Given the description of an element on the screen output the (x, y) to click on. 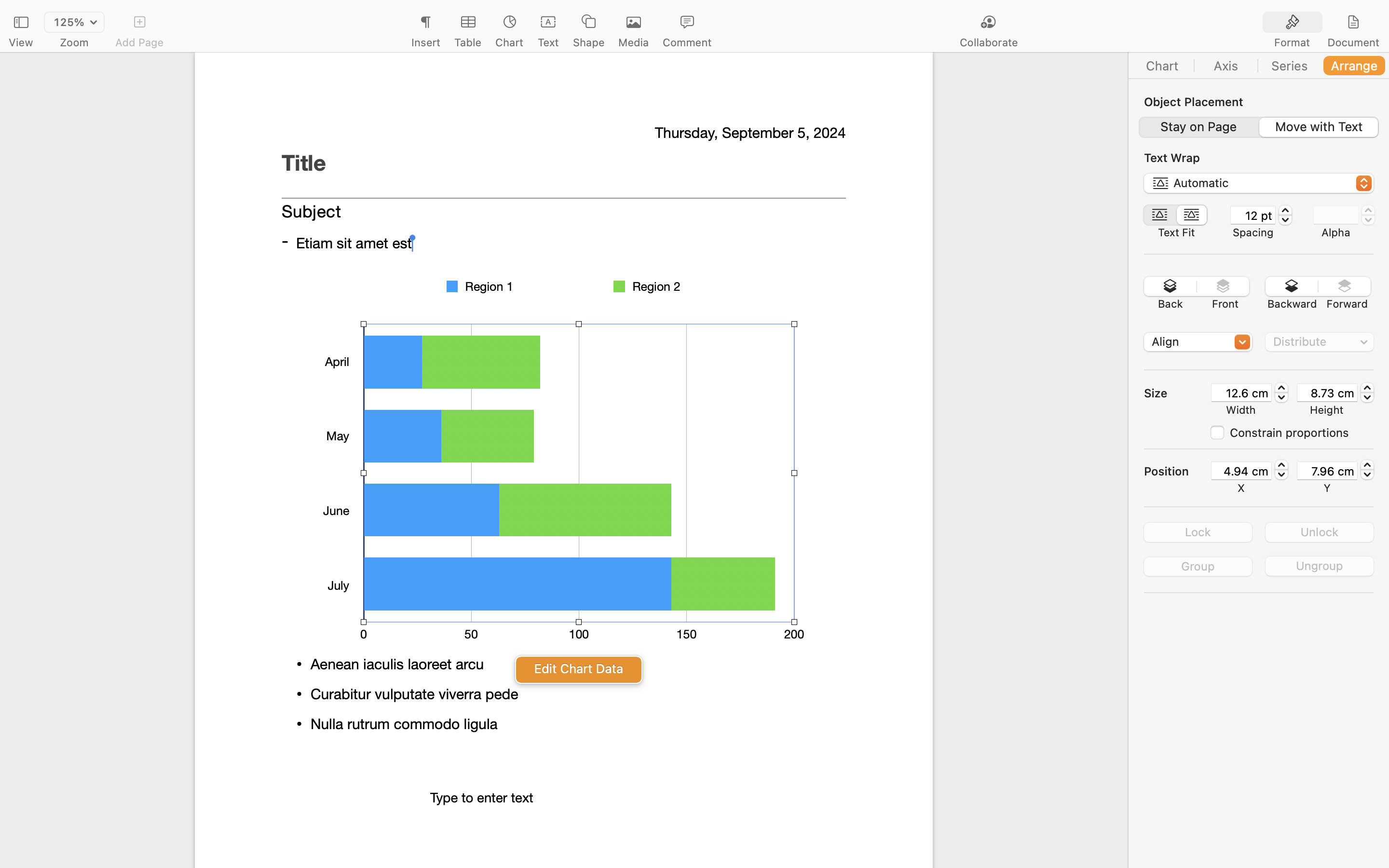
Insert Element type: AXStaticText (425, 42)
<AXUIElement 0x120a4a580> {pid=1482} Element type: AXRadioGroup (1176, 214)
0.0 Element type: AXIncrementor (1368, 214)
Object Placement Element type: AXStaticText (1193, 101)
140.00496643066407 Element type: AXIncrementor (1281, 469)
